Given the description of an element on the screen output the (x, y) to click on. 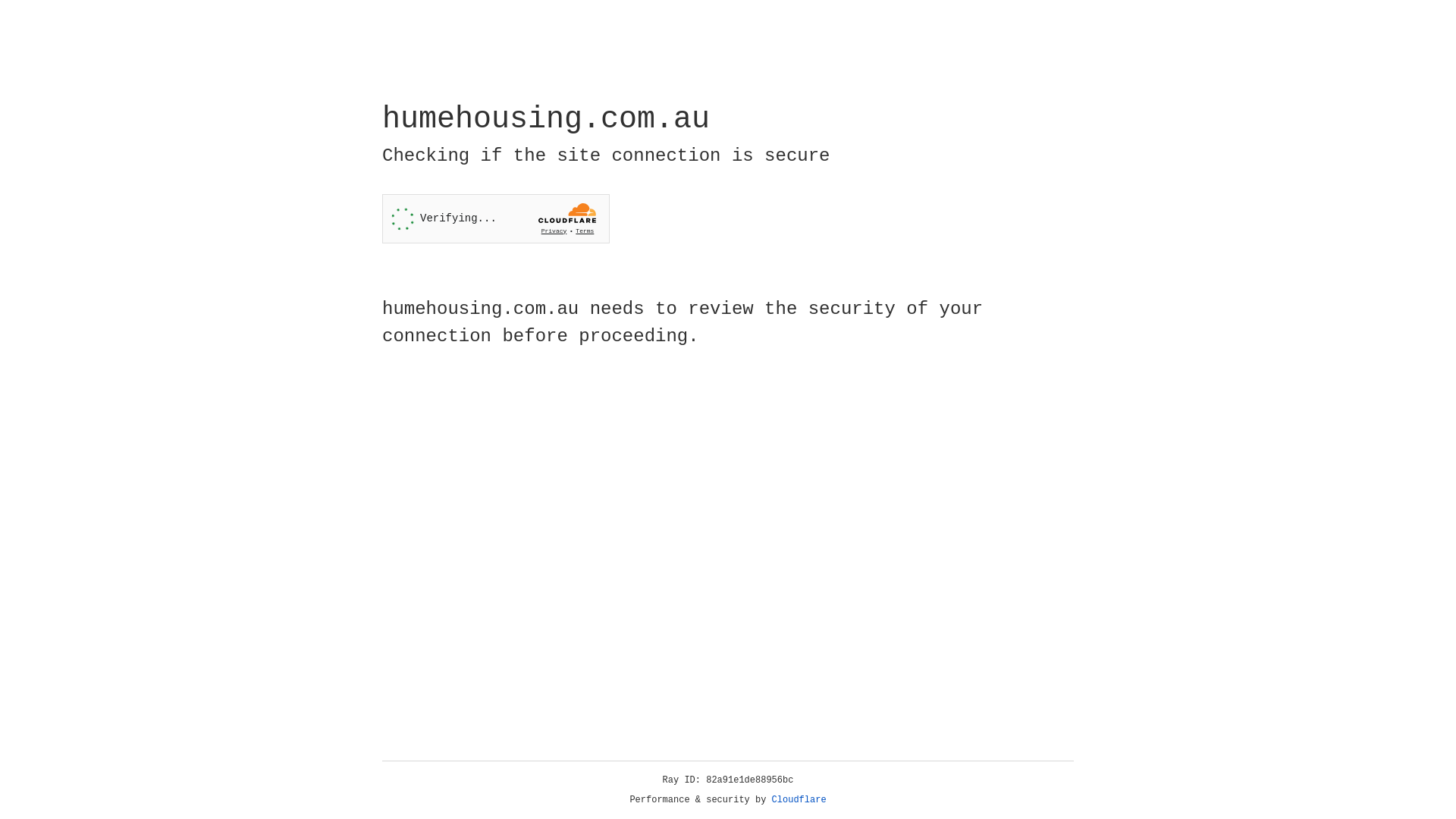
Cloudflare Element type: text (798, 799)
Widget containing a Cloudflare security challenge Element type: hover (495, 218)
